Given the description of an element on the screen output the (x, y) to click on. 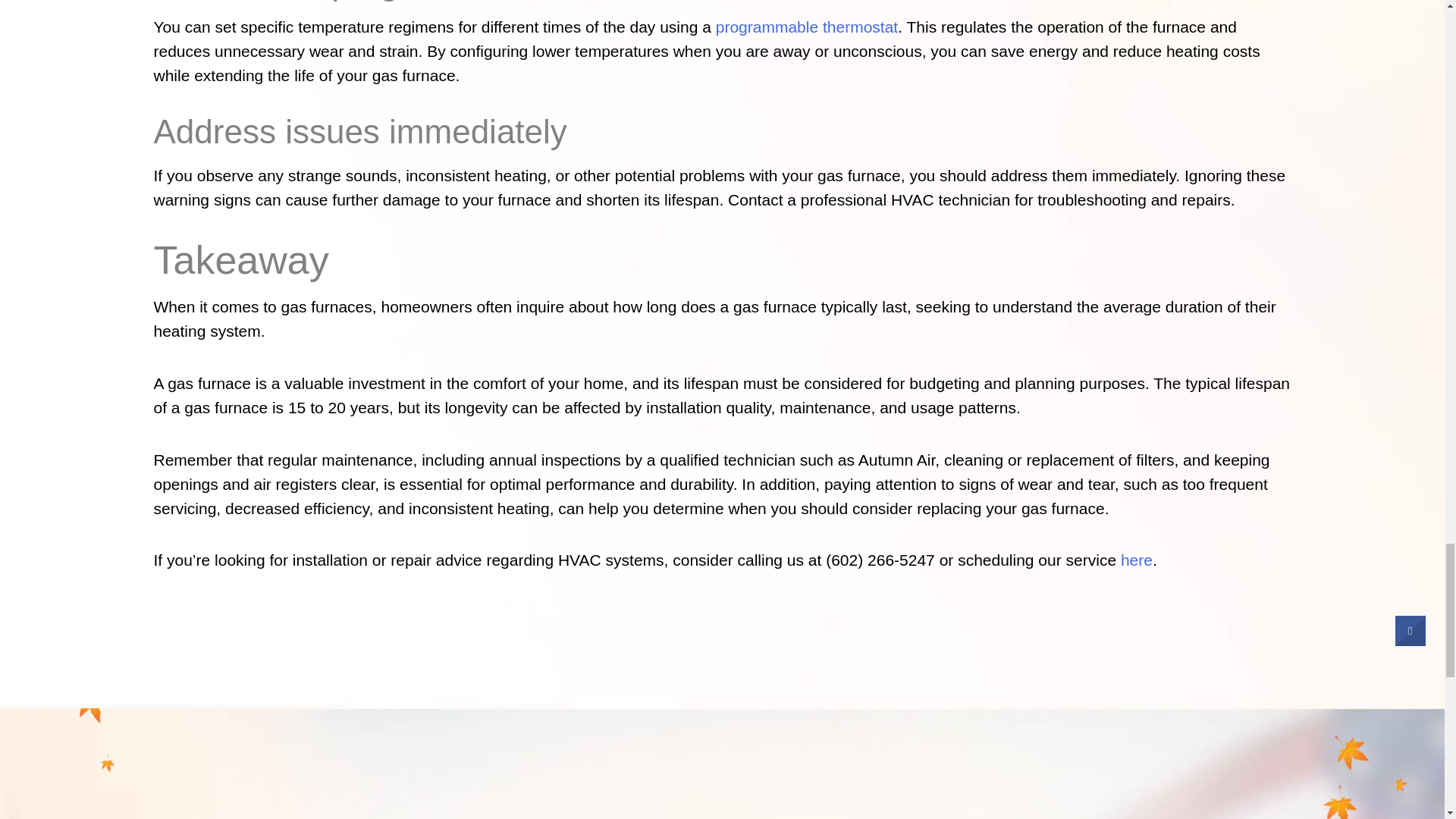
Share on Facebook (1409, 641)
